Given the description of an element on the screen output the (x, y) to click on. 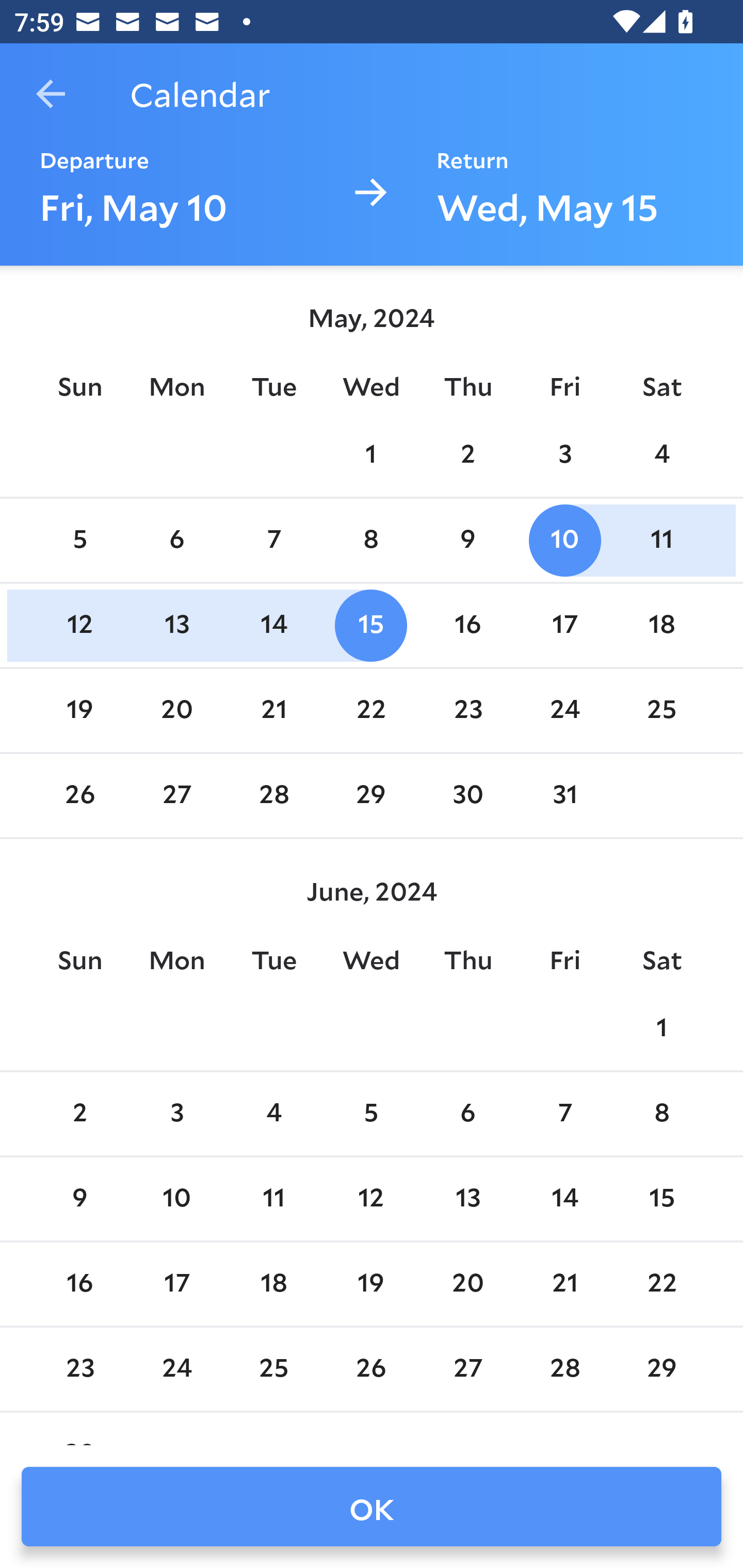
Navigate up (50, 93)
1 (371, 454)
2 (467, 454)
3 (565, 454)
4 (661, 454)
5 (79, 540)
6 (177, 540)
7 (273, 540)
8 (371, 540)
9 (467, 540)
10 (565, 540)
11 (661, 540)
12 (79, 625)
13 (177, 625)
14 (273, 625)
15 (371, 625)
16 (467, 625)
17 (565, 625)
18 (661, 625)
19 (79, 710)
20 (177, 710)
21 (273, 710)
22 (371, 710)
23 (467, 710)
24 (565, 710)
25 (661, 710)
26 (79, 796)
27 (177, 796)
28 (273, 796)
29 (371, 796)
30 (467, 796)
31 (565, 796)
1 (661, 1028)
2 (79, 1114)
3 (177, 1114)
4 (273, 1114)
5 (371, 1114)
6 (467, 1114)
7 (565, 1114)
8 (661, 1114)
9 (79, 1199)
10 (177, 1199)
11 (273, 1199)
12 (371, 1199)
13 (467, 1199)
14 (565, 1199)
15 (661, 1199)
16 (79, 1284)
17 (177, 1284)
18 (273, 1284)
